Given the description of an element on the screen output the (x, y) to click on. 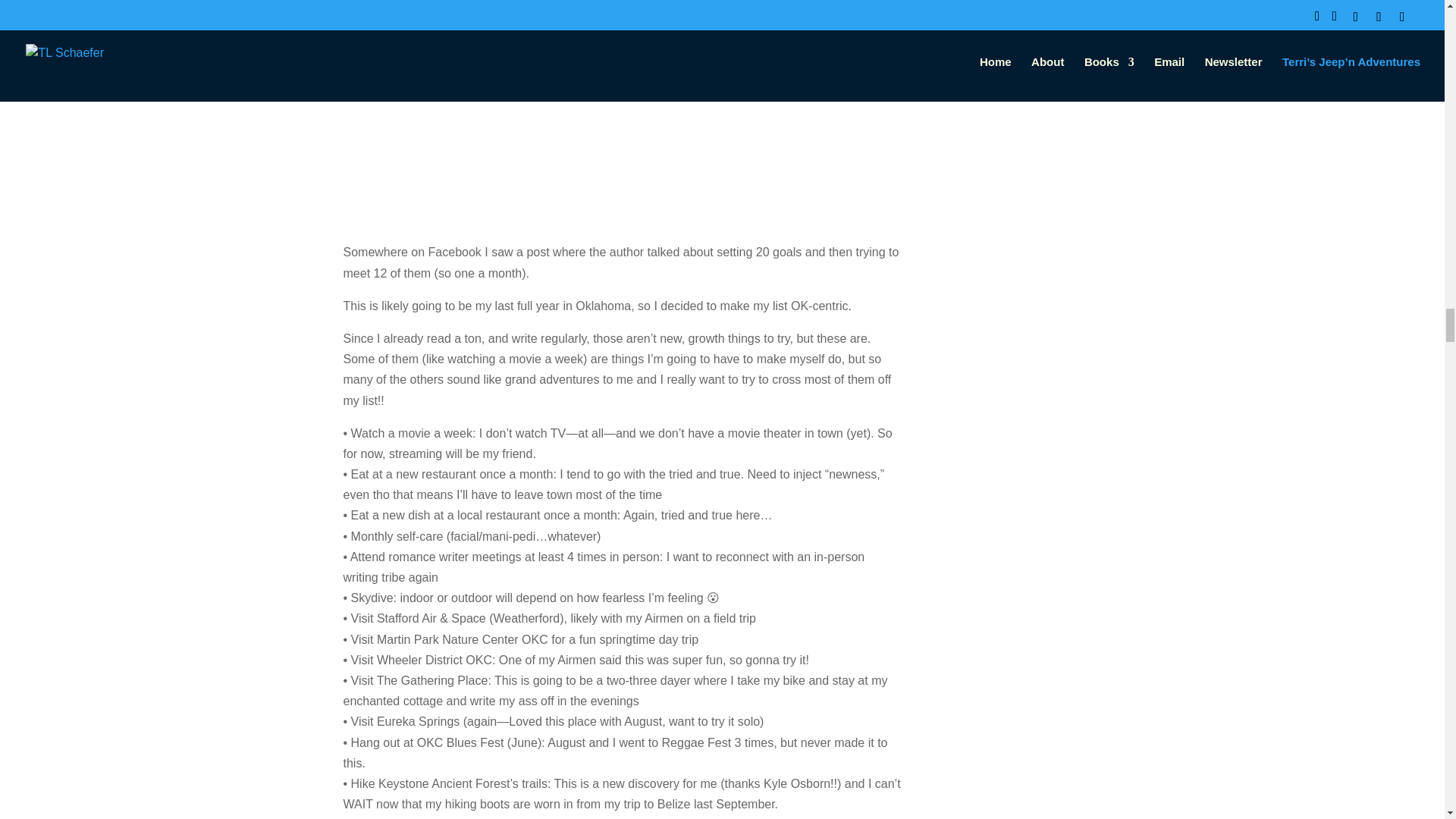
Jeep'n Adventures (565, 62)
TL Schaefer (392, 62)
20 Things to do in 2023 (473, 31)
Posts by TL Schaefer (392, 62)
